Given the description of an element on the screen output the (x, y) to click on. 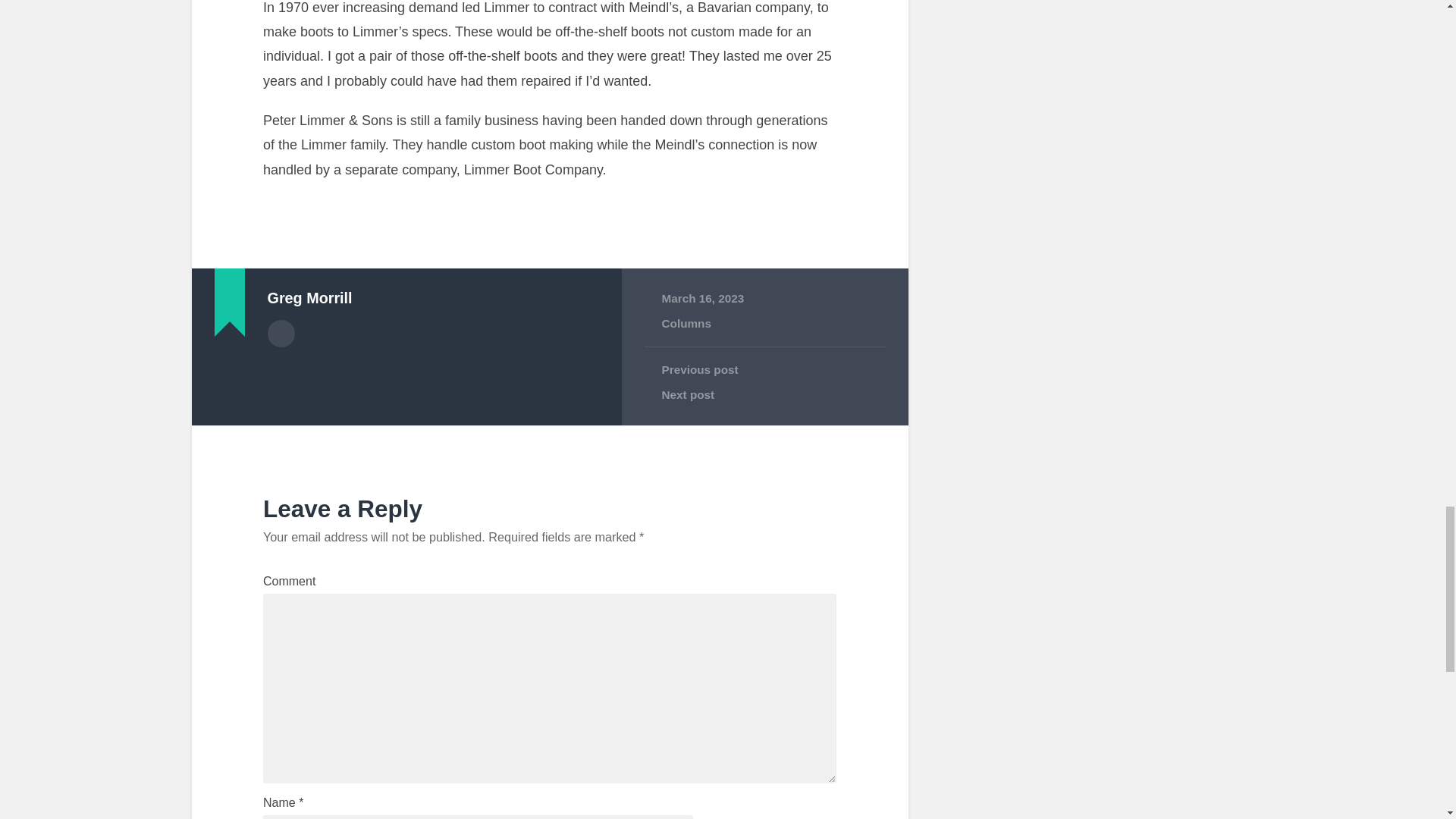
Author archive (280, 333)
Previous post (765, 369)
Columns (685, 323)
Next post (765, 394)
